Given the description of an element on the screen output the (x, y) to click on. 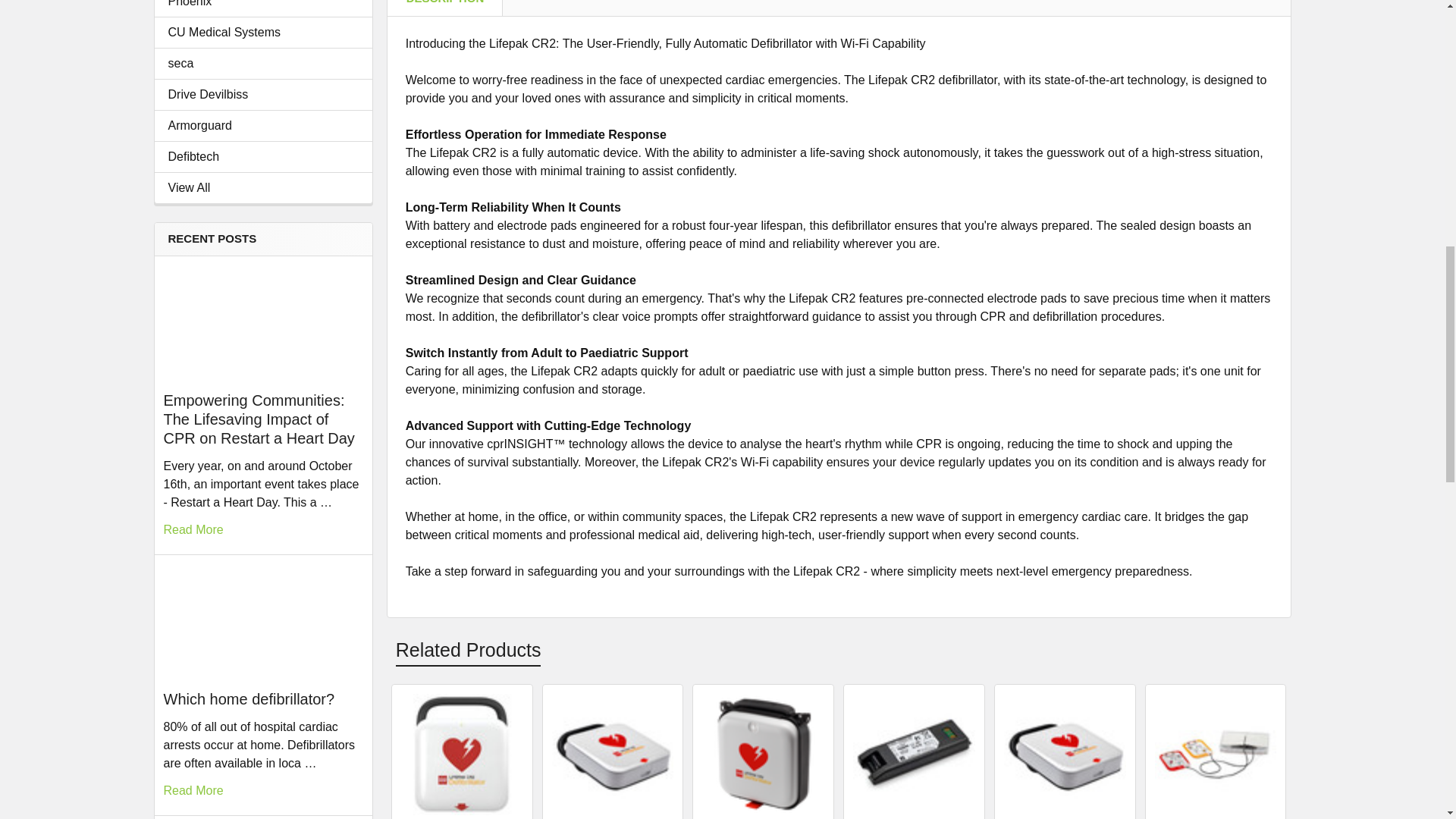
Phoenix (263, 5)
Defibtech (263, 157)
Armorguard (263, 126)
Drive Devilbiss (263, 94)
seca (263, 63)
CU Medical Systems (263, 32)
